Given the description of an element on the screen output the (x, y) to click on. 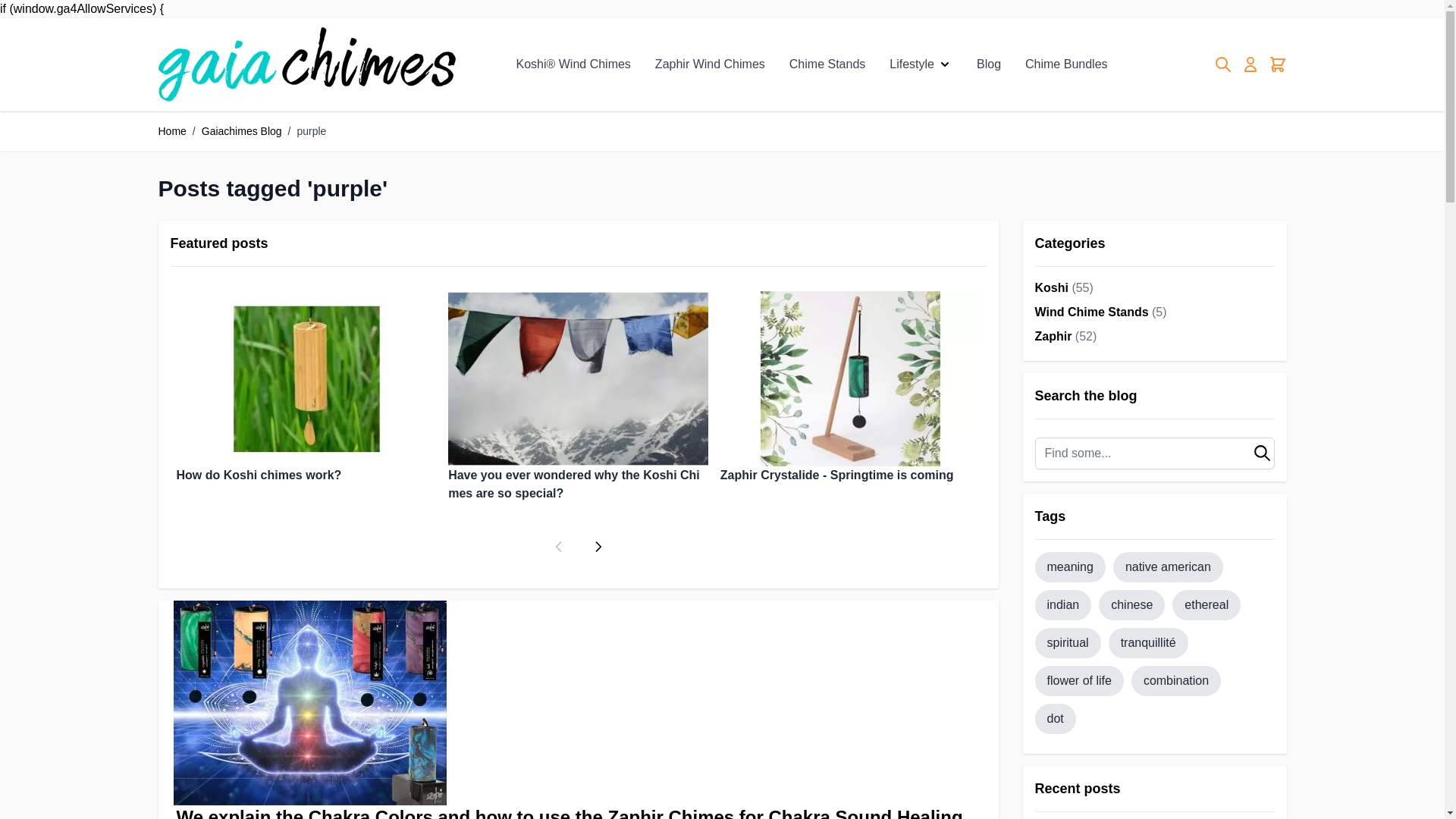
Home (171, 130)
Zaphir Wind Chimes (710, 63)
Cart (1276, 64)
Lifestyle (911, 63)
Have you ever wondered why the Koshi Chimes are so special? (577, 396)
Show submenu for Lifestyle category (944, 64)
Gaiachimes Blog (242, 130)
Zaphir Wind Chimes (710, 63)
Chime Bundles (1066, 63)
Zaphir Crystalide - Springtime is coming (849, 387)
Lifestyle (911, 63)
How do Koshi chimes work? (305, 387)
Chime Stands (827, 63)
Chime Stands (827, 63)
Chime Bundles (1066, 63)
